Given the description of an element on the screen output the (x, y) to click on. 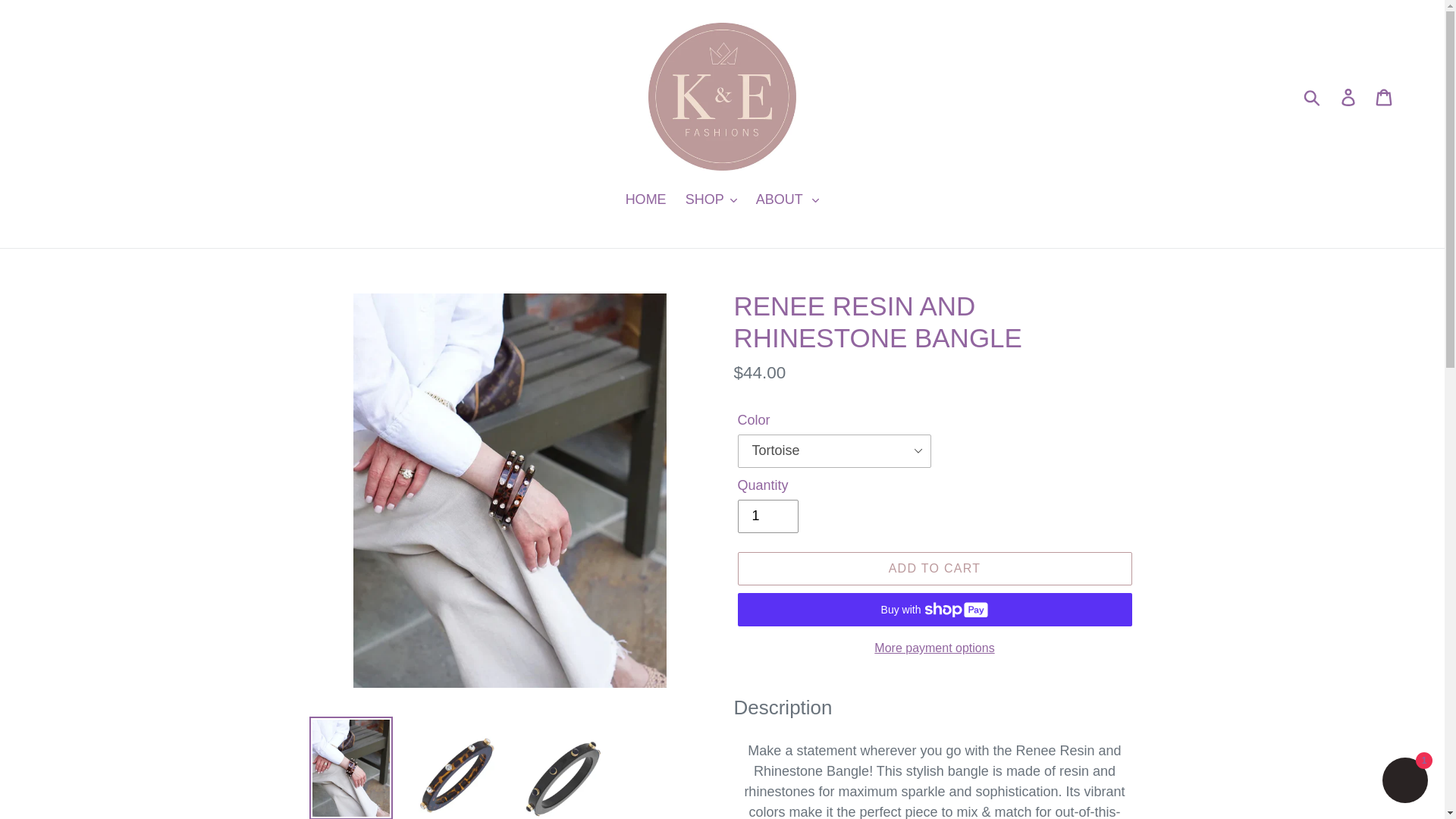
Submit (1313, 96)
Log in (1349, 96)
1 (766, 516)
Shopify online store chat (1404, 781)
Cart (1385, 96)
